Given the description of an element on the screen output the (x, y) to click on. 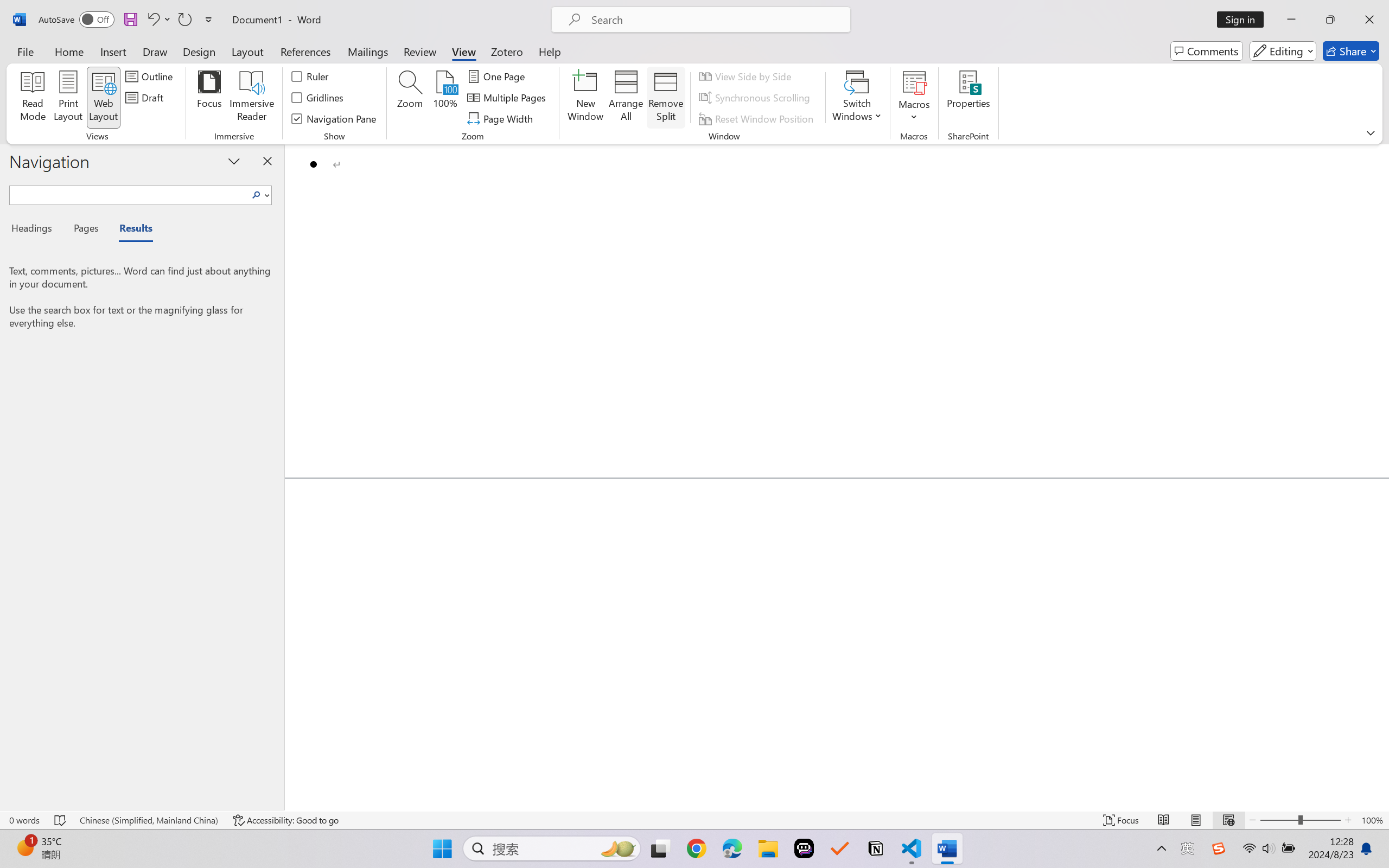
Multiple Pages (507, 97)
New Window (585, 97)
Switch Windows (856, 97)
Ruler (309, 75)
One Page (497, 75)
Undo Bullet Default (158, 19)
Navigation Pane (334, 118)
